Given the description of an element on the screen output the (x, y) to click on. 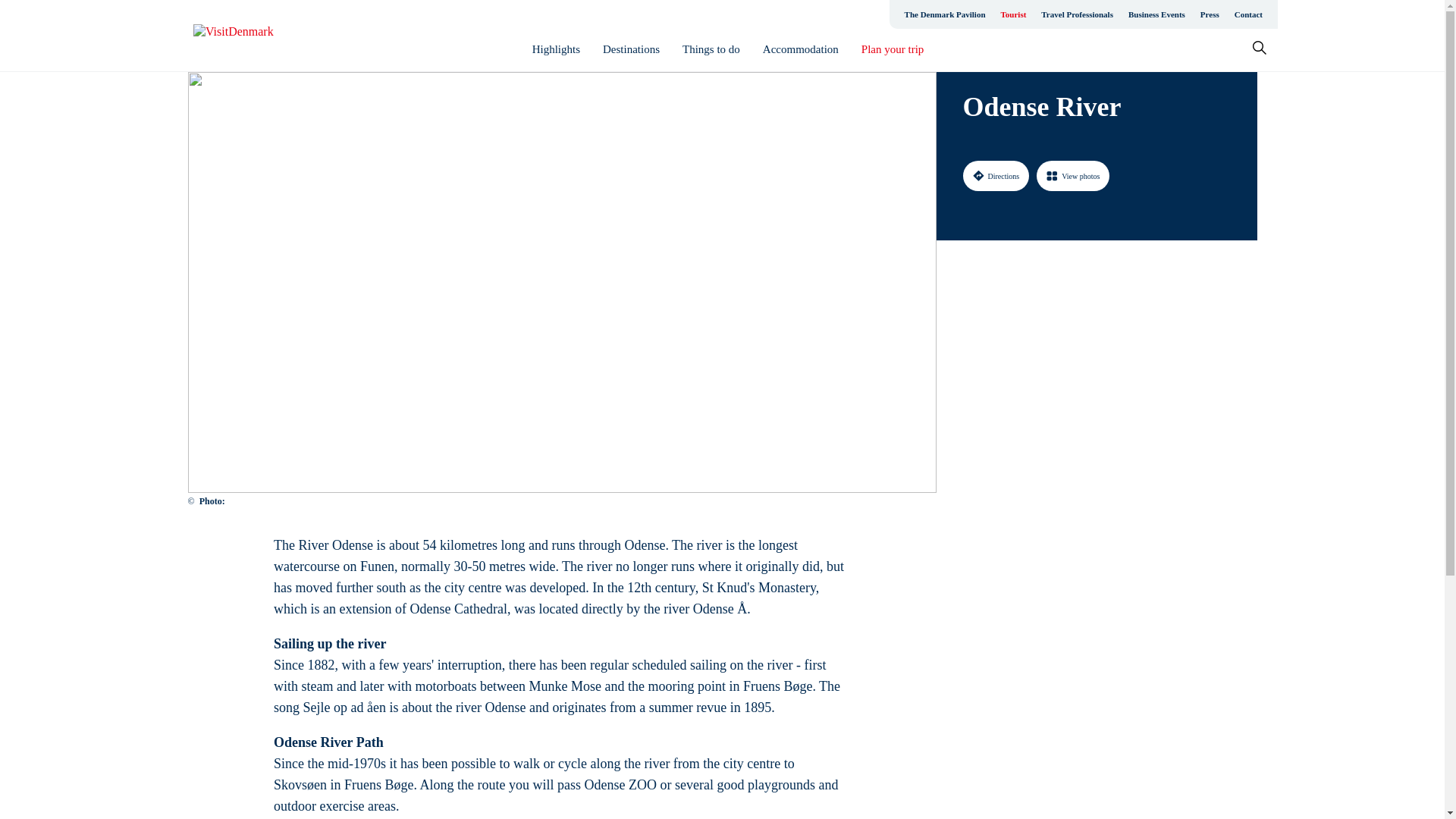
View photos (1072, 175)
Accommodation (800, 49)
Highlights (555, 49)
Press (1209, 14)
The Denmark Pavilion (944, 14)
Things to do (710, 49)
Directions (995, 175)
Travel Professionals (1077, 14)
Business Events (1156, 14)
Contact (1248, 14)
